Given the description of an element on the screen output the (x, y) to click on. 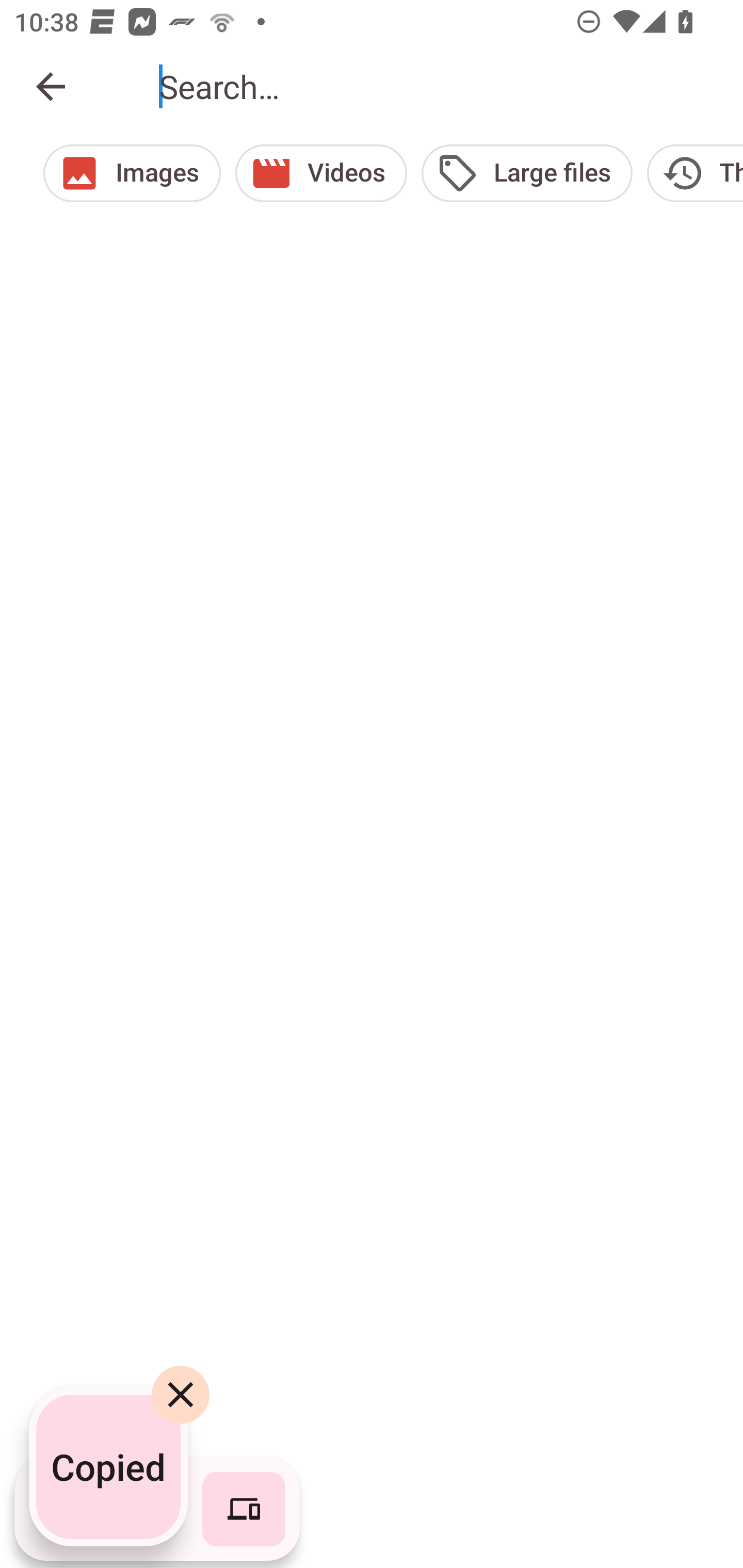
Back (50, 86)
Search… (436, 86)
Images (131, 173)
Videos (321, 173)
Large files (526, 173)
This week (695, 173)
